Given the description of an element on the screen output the (x, y) to click on. 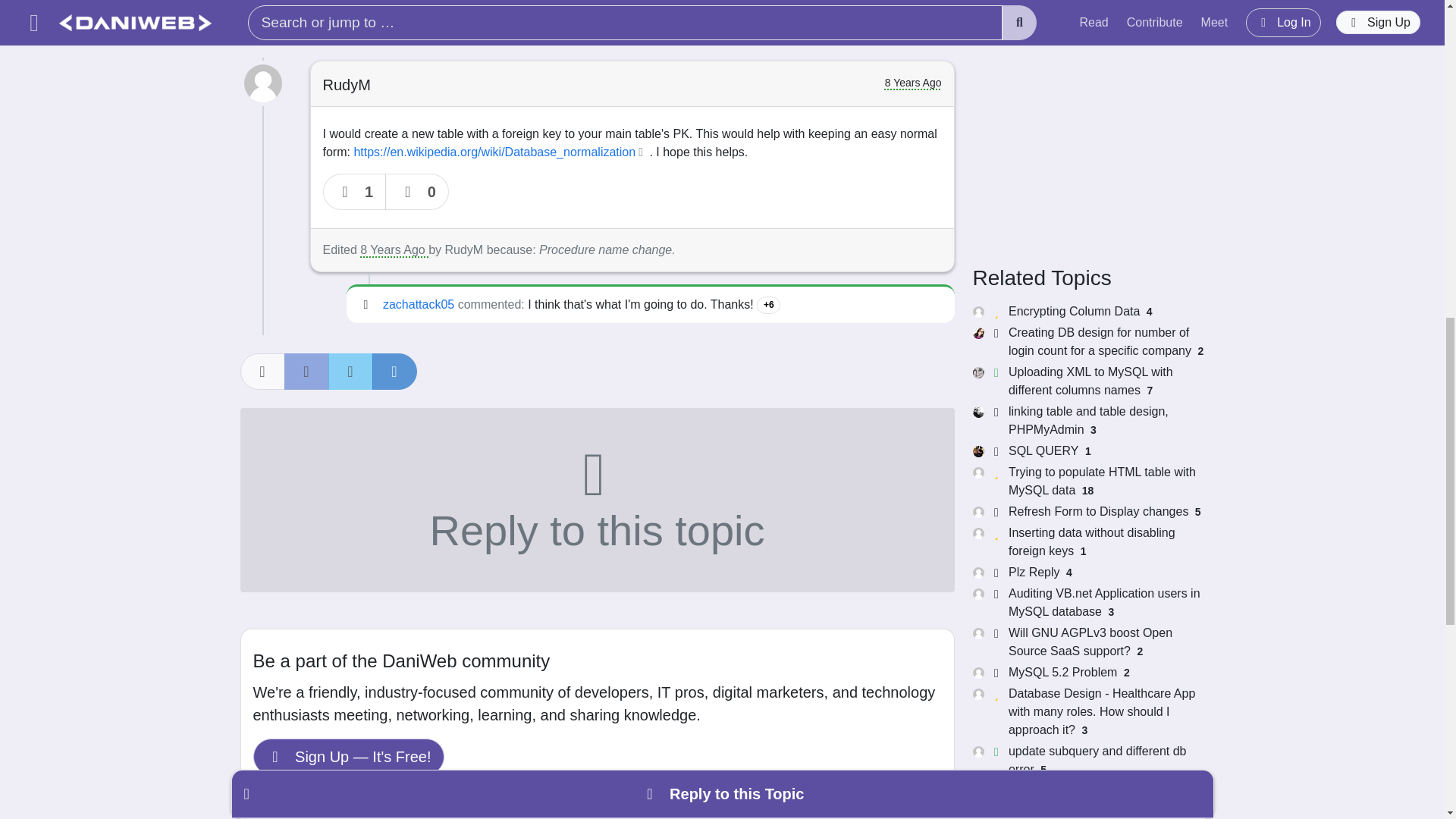
0 (416, 191)
Twitter (349, 370)
Refresh Form to Display changes 5 (1088, 511)
Reply to this topic (596, 499)
Inserting data without disabling foreign keys 1 (1088, 542)
linking table and table design, PHPMyAdmin 3 (1088, 420)
zachattack05 (418, 304)
Trying to populate HTML table with MySQL data 18 (1088, 481)
LinkedIn (393, 370)
Share (261, 370)
